Given the description of an element on the screen output the (x, y) to click on. 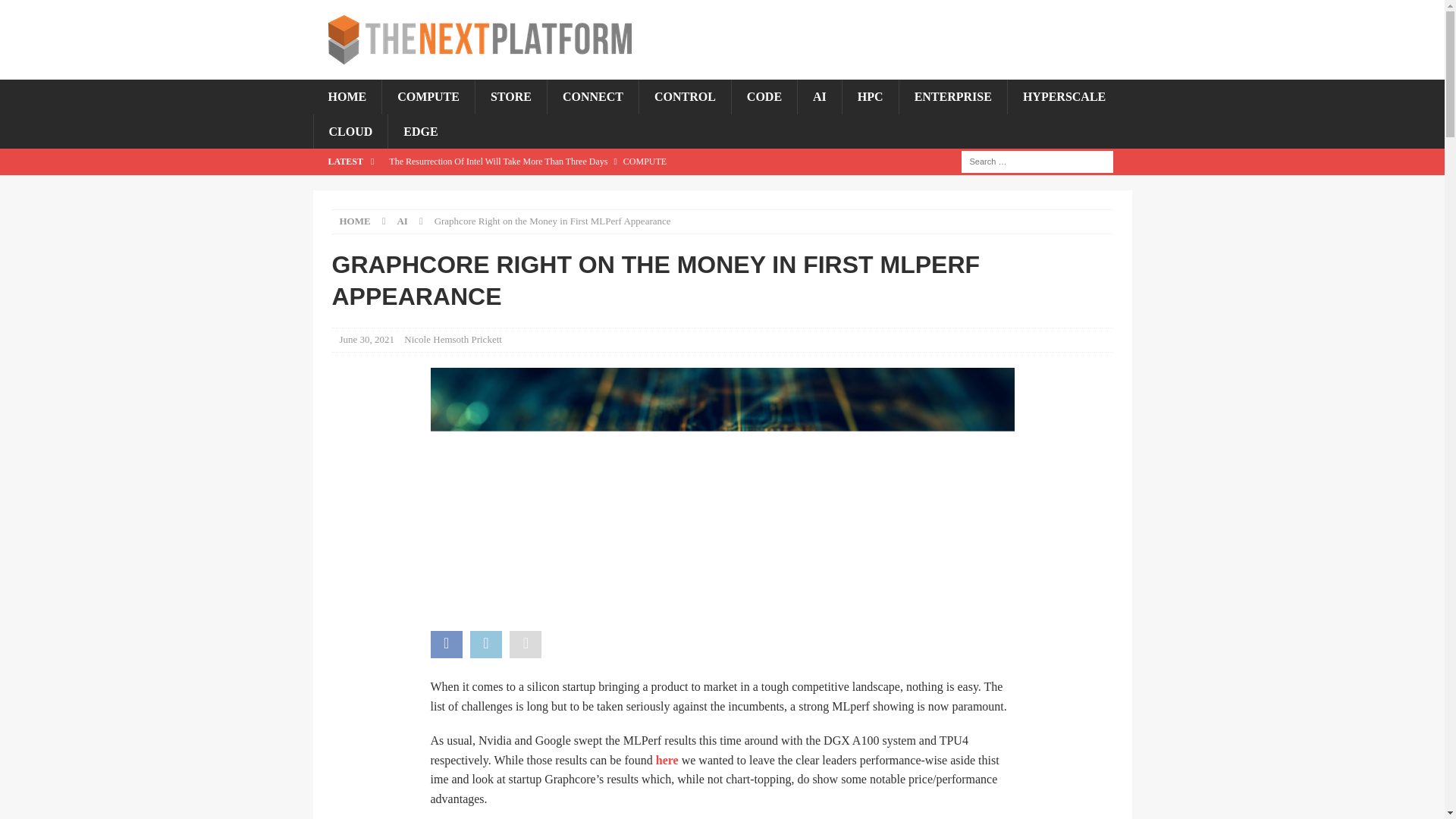
STORE (510, 96)
CODE (763, 96)
ENTERPRISE (952, 96)
HOME (347, 96)
AI (818, 96)
Nicole Hemsoth Prickett (453, 338)
The Resurrection Of Intel Will Take More Than Three Days (611, 161)
June 30, 2021 (366, 338)
here (667, 759)
